Given the description of an element on the screen output the (x, y) to click on. 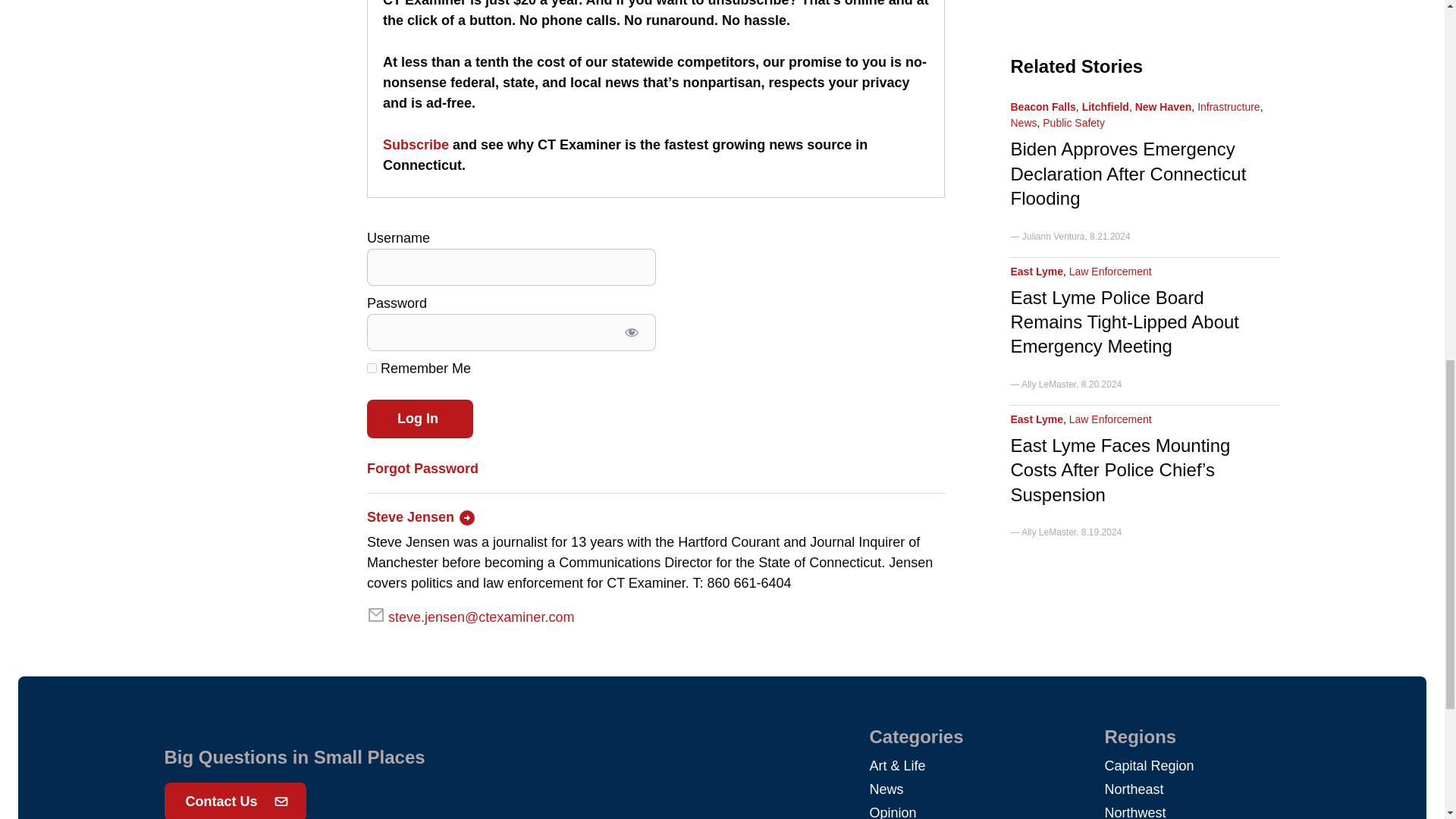
Facebook (210, 1)
Email (292, 1)
Twitter (183, 1)
Copy Link (237, 1)
Subscribe (415, 144)
Print (265, 1)
forever (371, 368)
Log In (419, 418)
